Given the description of an element on the screen output the (x, y) to click on. 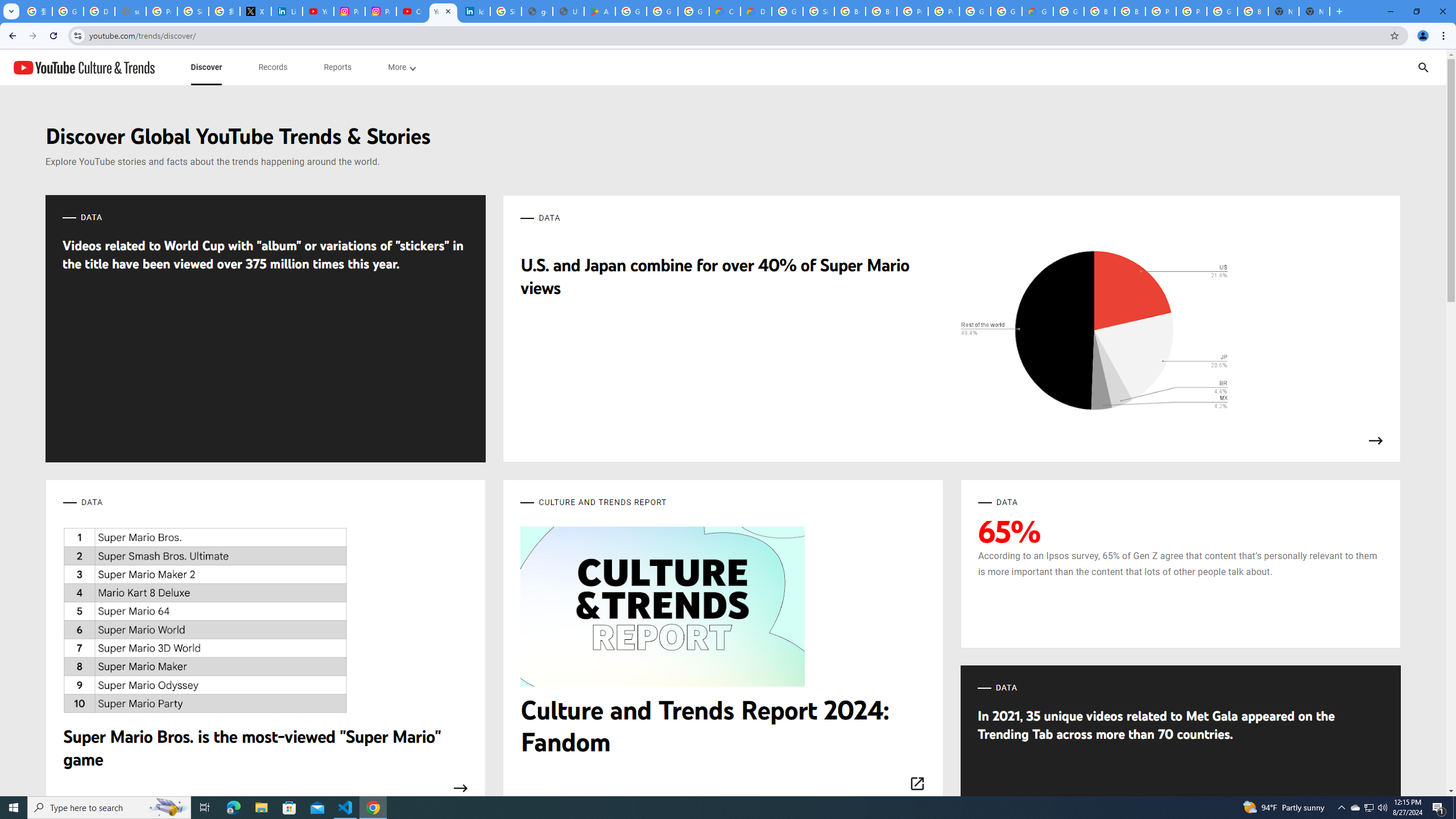
subnav-More menupopup (401, 67)
New Tab (1314, 11)
JUMP TO CONTENT (118, 67)
Google Cloud Platform (974, 11)
Sign in - Google Accounts (505, 11)
google_privacy_policy_en.pdf (536, 11)
